Given the description of an element on the screen output the (x, y) to click on. 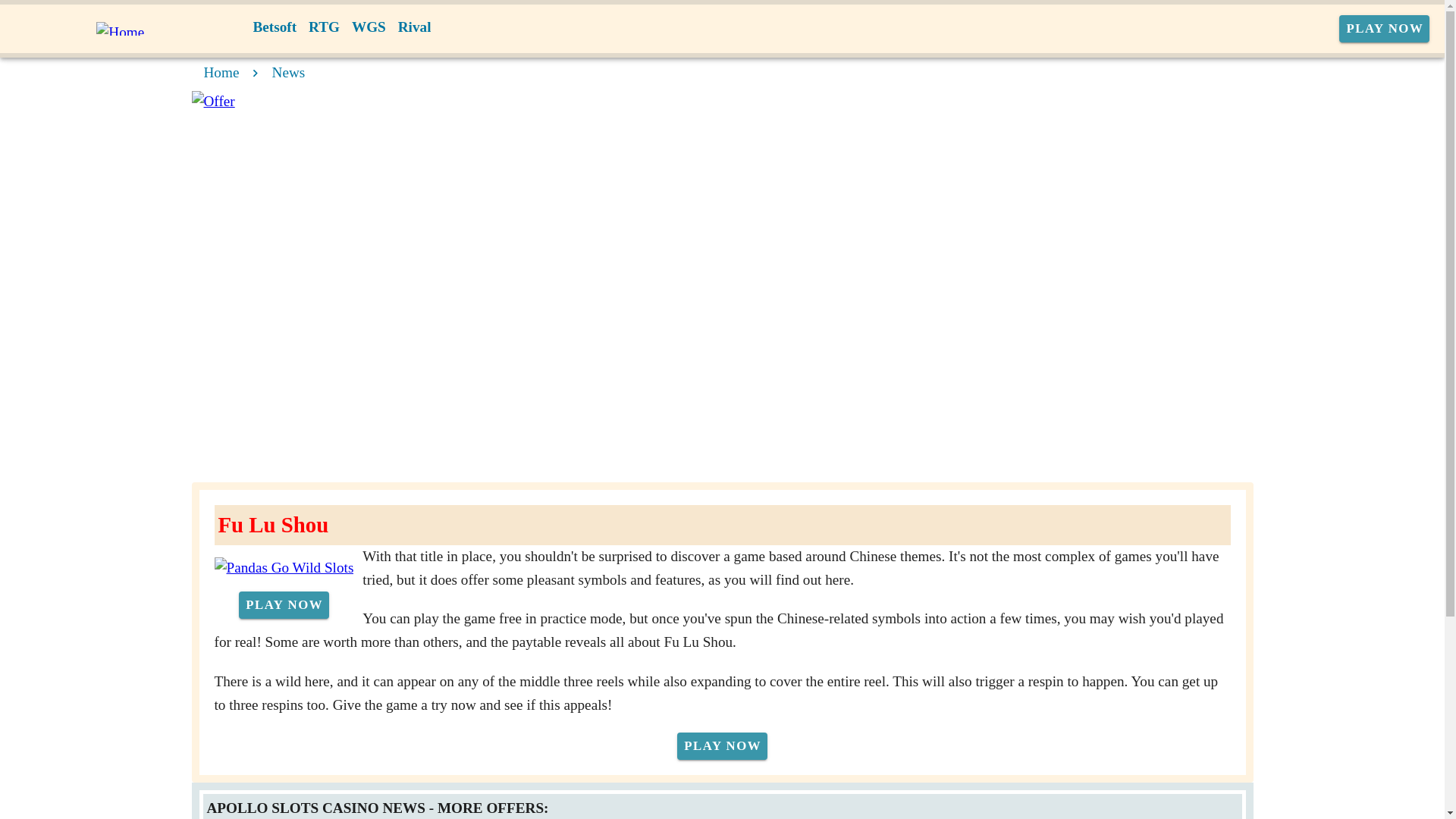
WGS (368, 27)
PLAY NOW (283, 605)
Betsoft (274, 27)
News (288, 72)
Home (220, 72)
RTG (324, 27)
PLAY NOW (1384, 28)
PLAY NOW (722, 746)
Rival (414, 27)
